Given the description of an element on the screen output the (x, y) to click on. 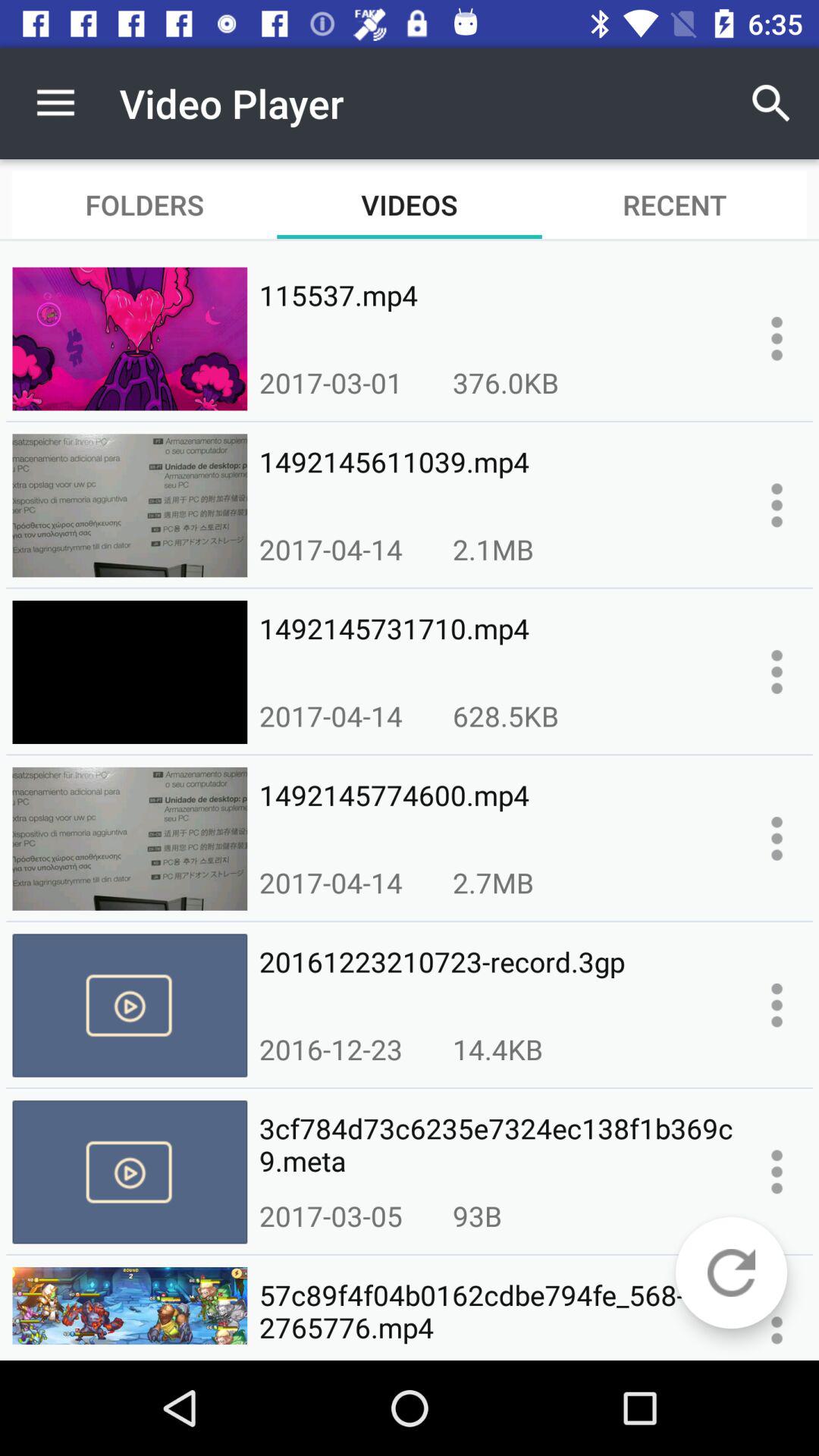
turn on the icon below 3cf784d73c6235e7324ec138f1b369c9.meta icon (477, 1215)
